Given the description of an element on the screen output the (x, y) to click on. 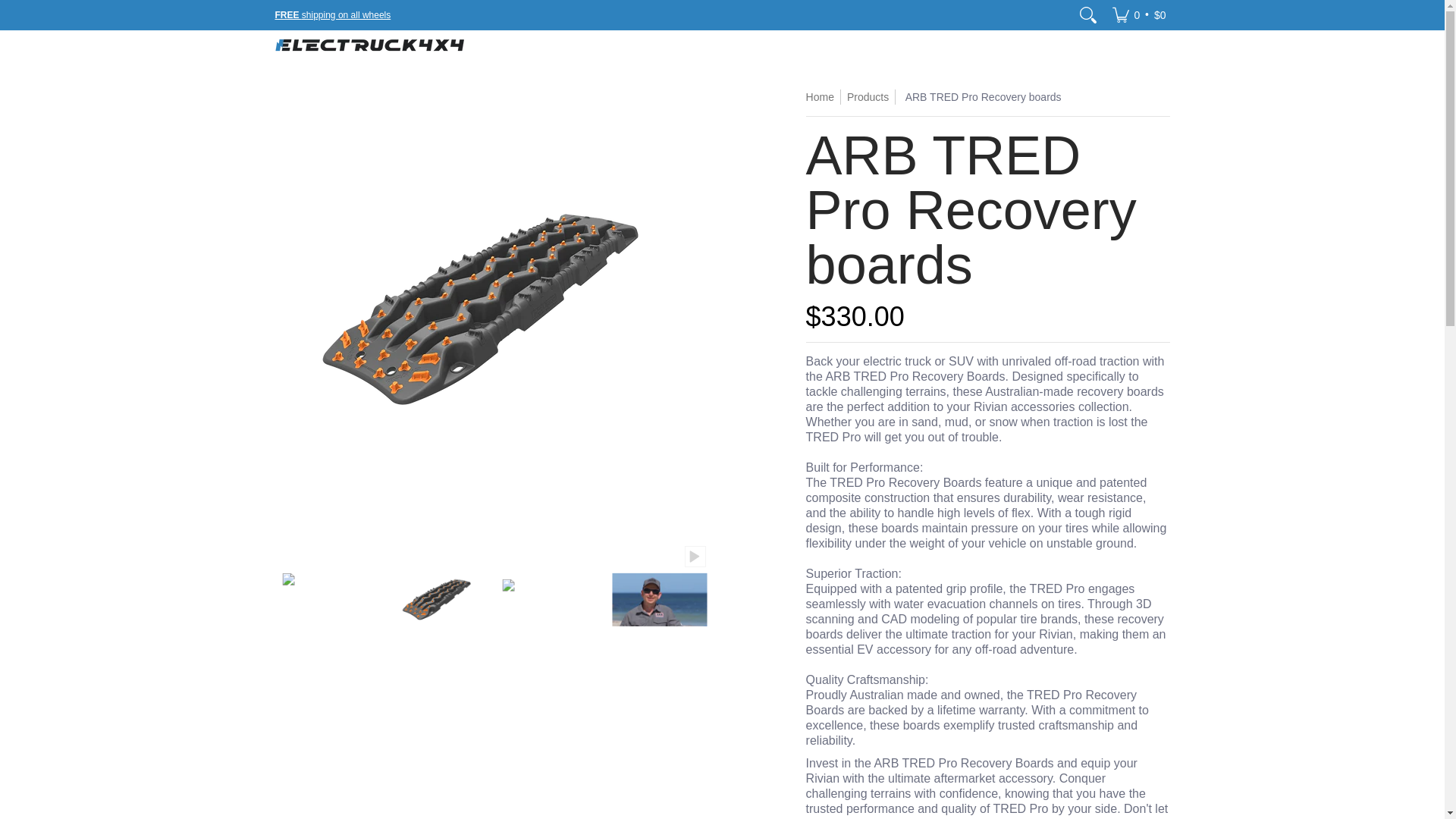
Home (820, 96)
Products (867, 96)
Wheels, Tires and Accessories (332, 14)
electruck4x4.com (369, 44)
Cart (1138, 15)
FREE shipping on all wheels (332, 14)
